Given the description of an element on the screen output the (x, y) to click on. 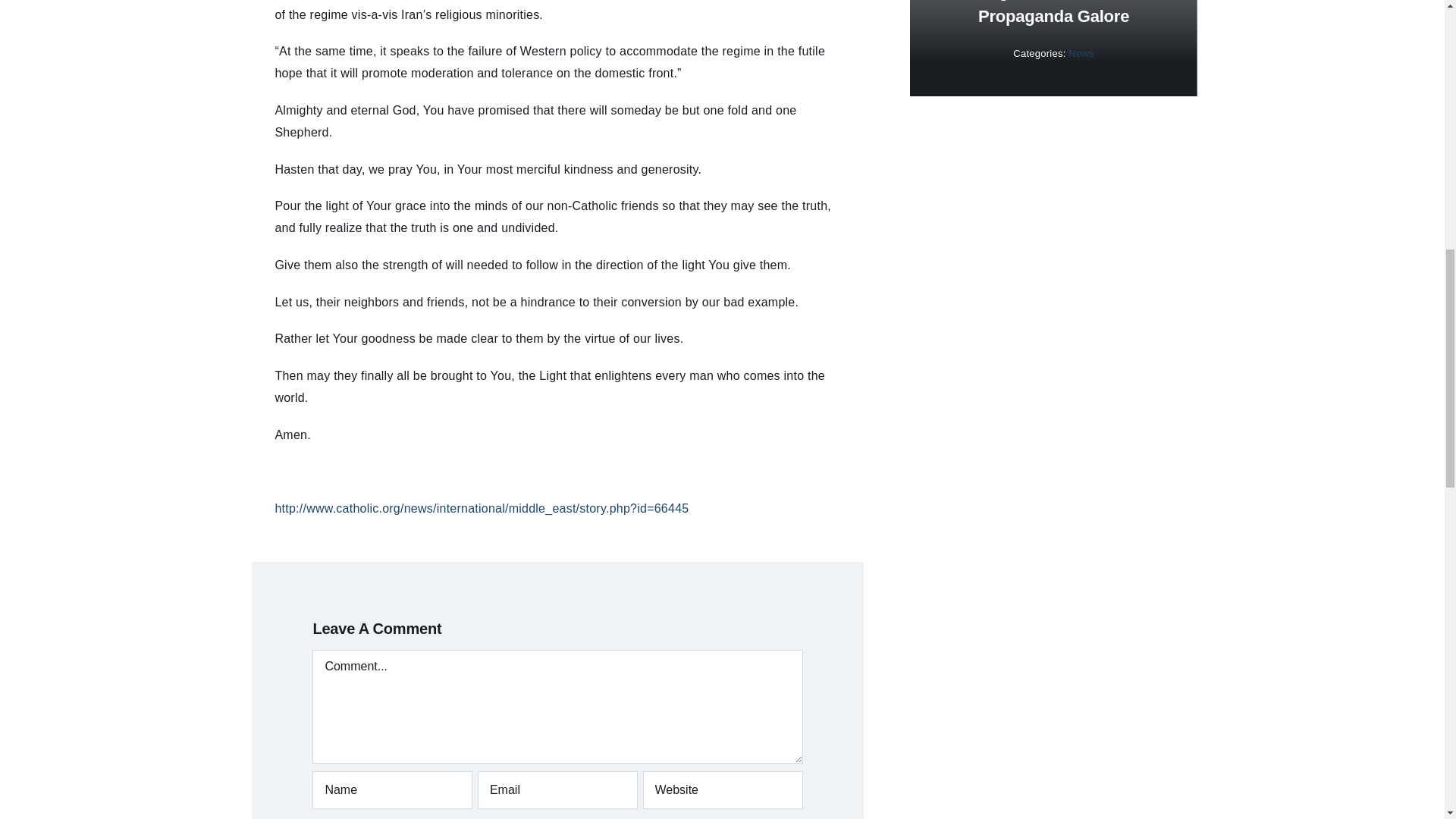
News (1080, 52)
